Given the description of an element on the screen output the (x, y) to click on. 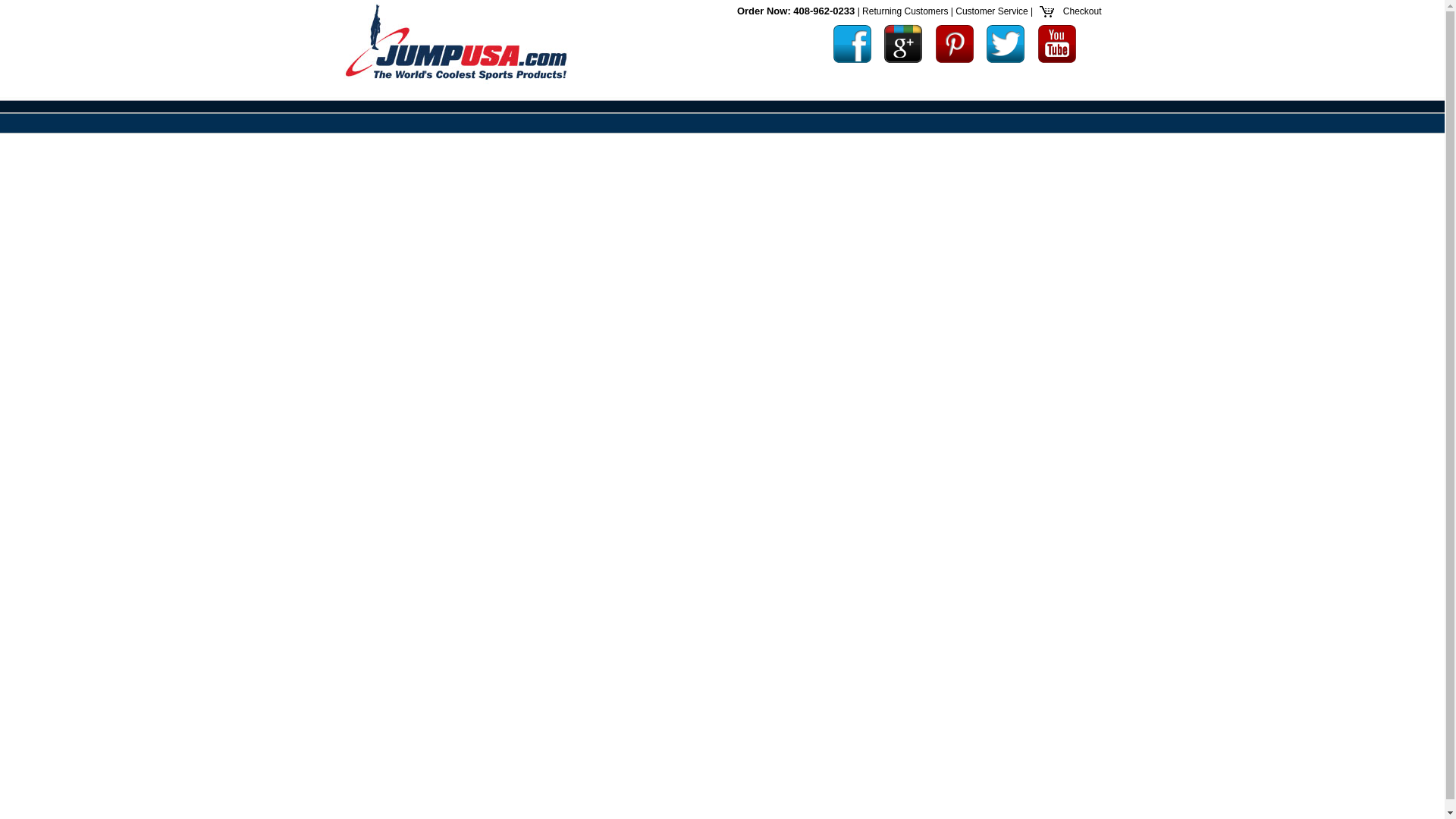
Customer Service (991, 10)
Checkout (1079, 10)
Returning Customers (904, 10)
